Given the description of an element on the screen output the (x, y) to click on. 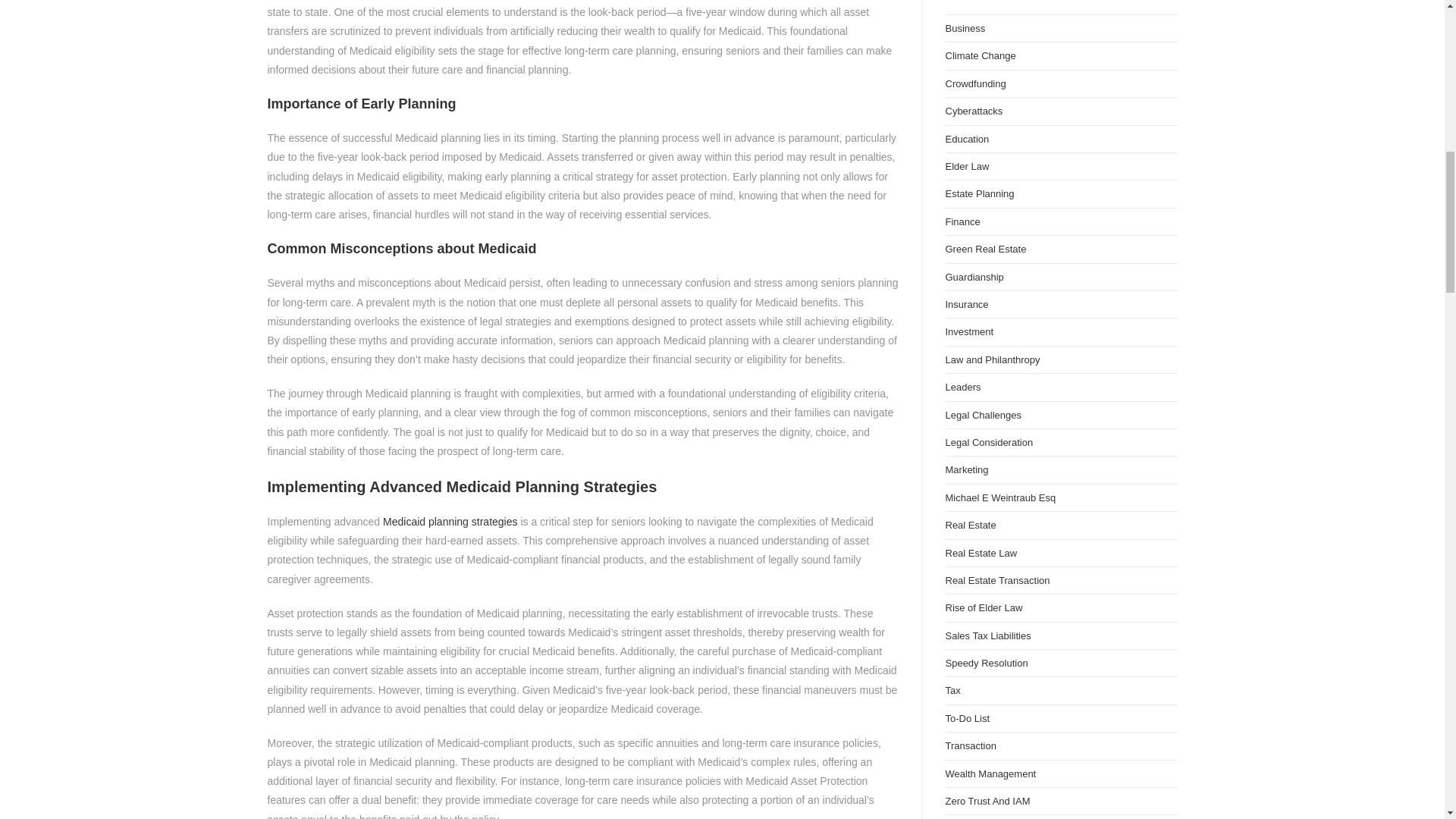
Climate Change (979, 55)
Crowdfunding (975, 83)
Business (964, 28)
Medicaid planning strategies (448, 521)
Cyberattacks (973, 111)
